Given the description of an element on the screen output the (x, y) to click on. 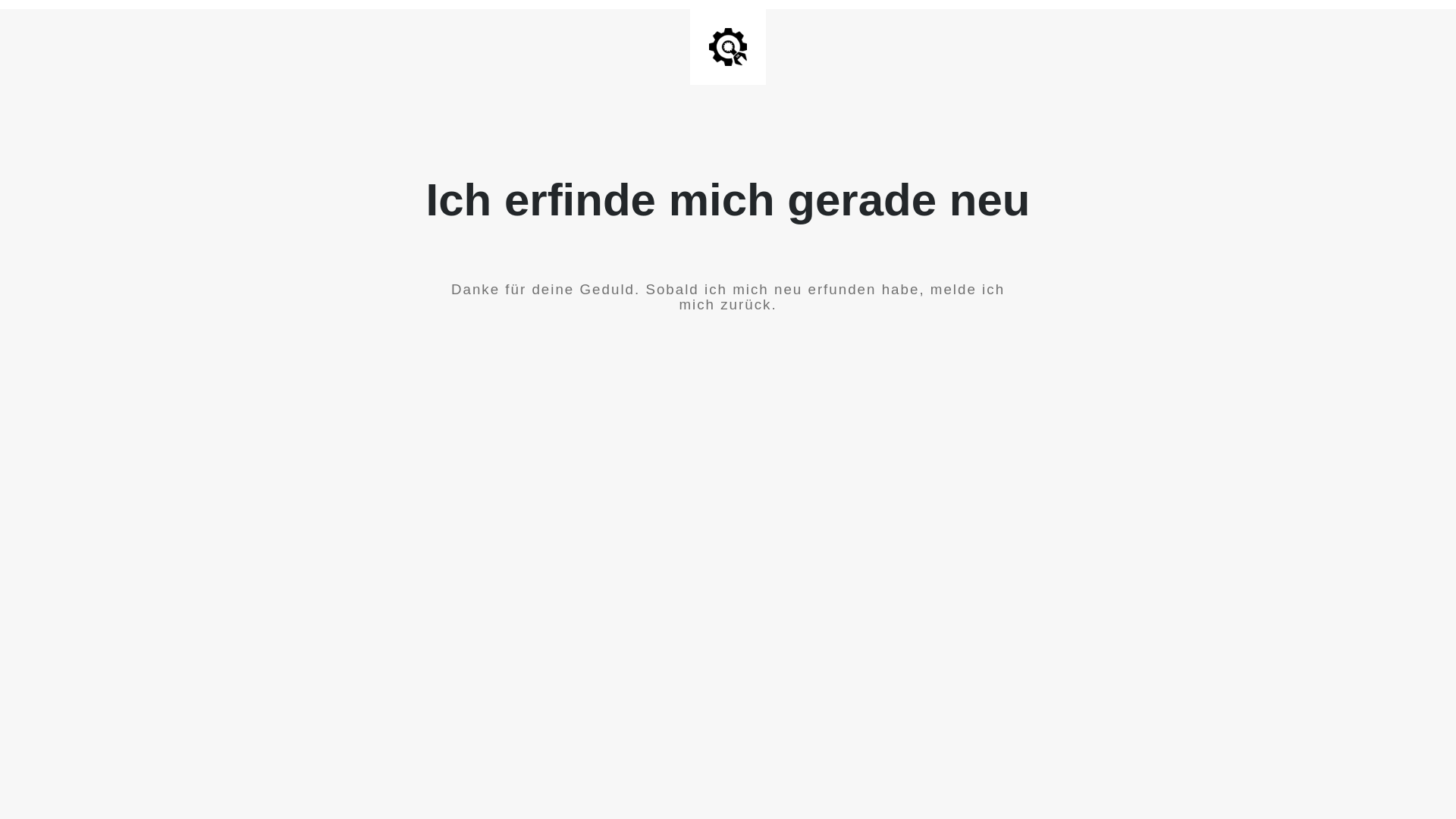
Site is Under Construction Element type: hover (727, 46)
